Given the description of an element on the screen output the (x, y) to click on. 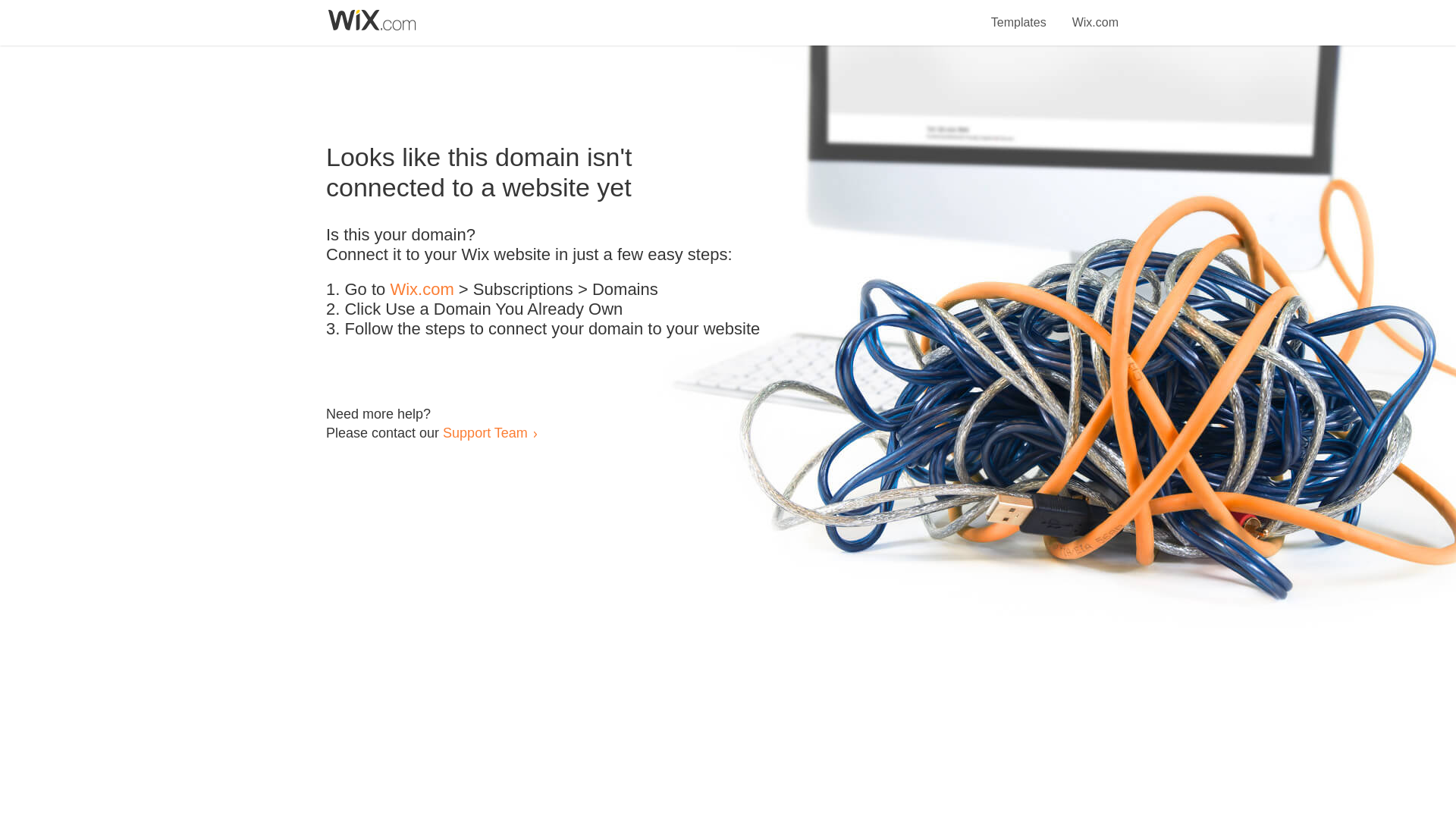
Templates (1018, 14)
Support Team (484, 432)
Wix.com (1095, 14)
Wix.com (421, 289)
